Given the description of an element on the screen output the (x, y) to click on. 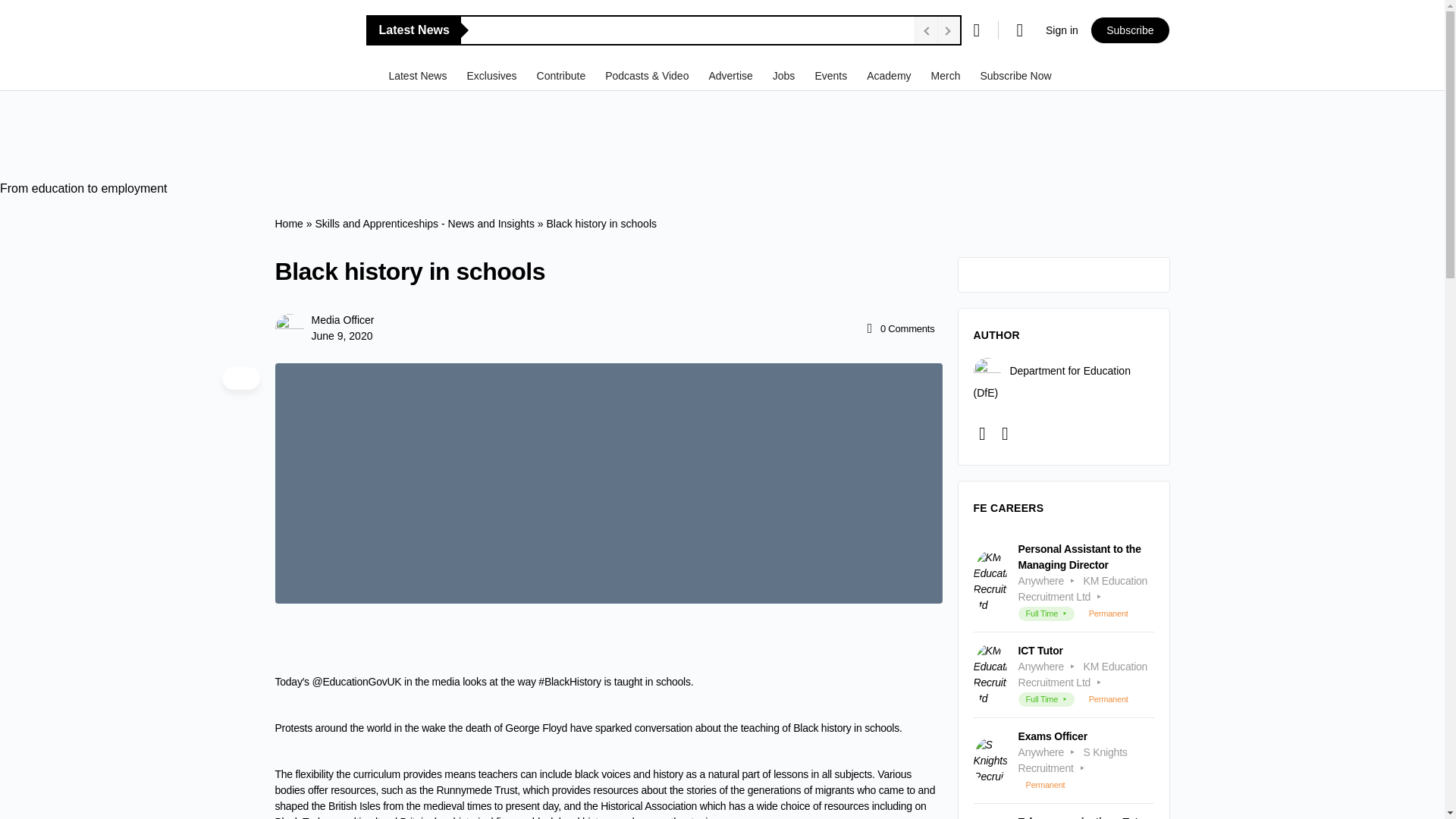
Latest News (419, 75)
Exclusives (493, 75)
Sign in (1061, 30)
Subscribe (1129, 30)
